Given the description of an element on the screen output the (x, y) to click on. 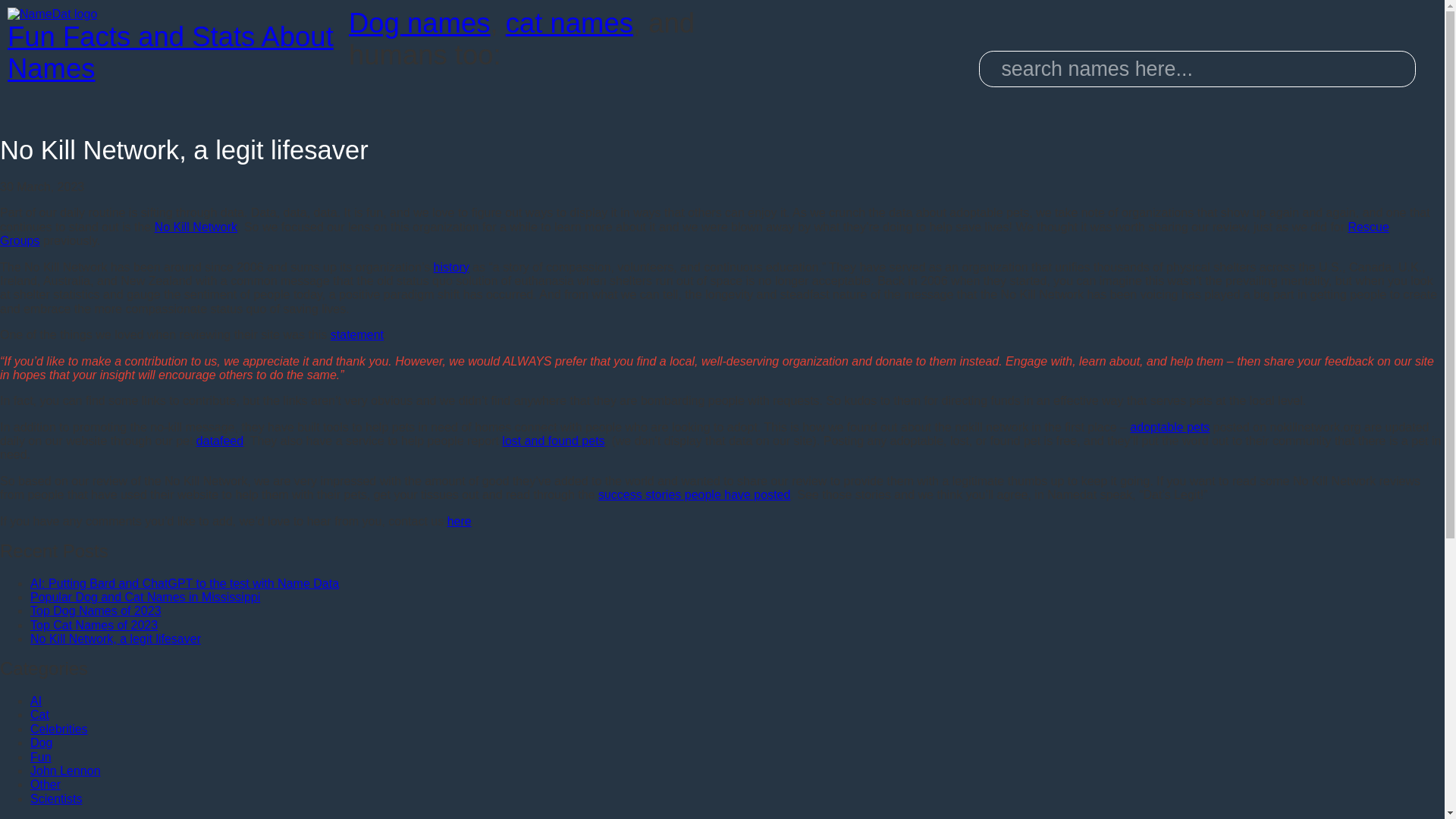
history (450, 267)
Home (170, 46)
Dog (41, 742)
AI (36, 700)
success stories people have posted (694, 494)
here (458, 521)
Cat (39, 714)
Rescue Groups (694, 233)
Fun (40, 757)
AI: Putting Bard and ChatGPT to the test with Name Data (184, 583)
Top Dog Names of 2023 (95, 610)
John Lennon (65, 770)
Top Cat Names of 2023 (93, 625)
datafeed (219, 440)
statement (357, 334)
